Given the description of an element on the screen output the (x, y) to click on. 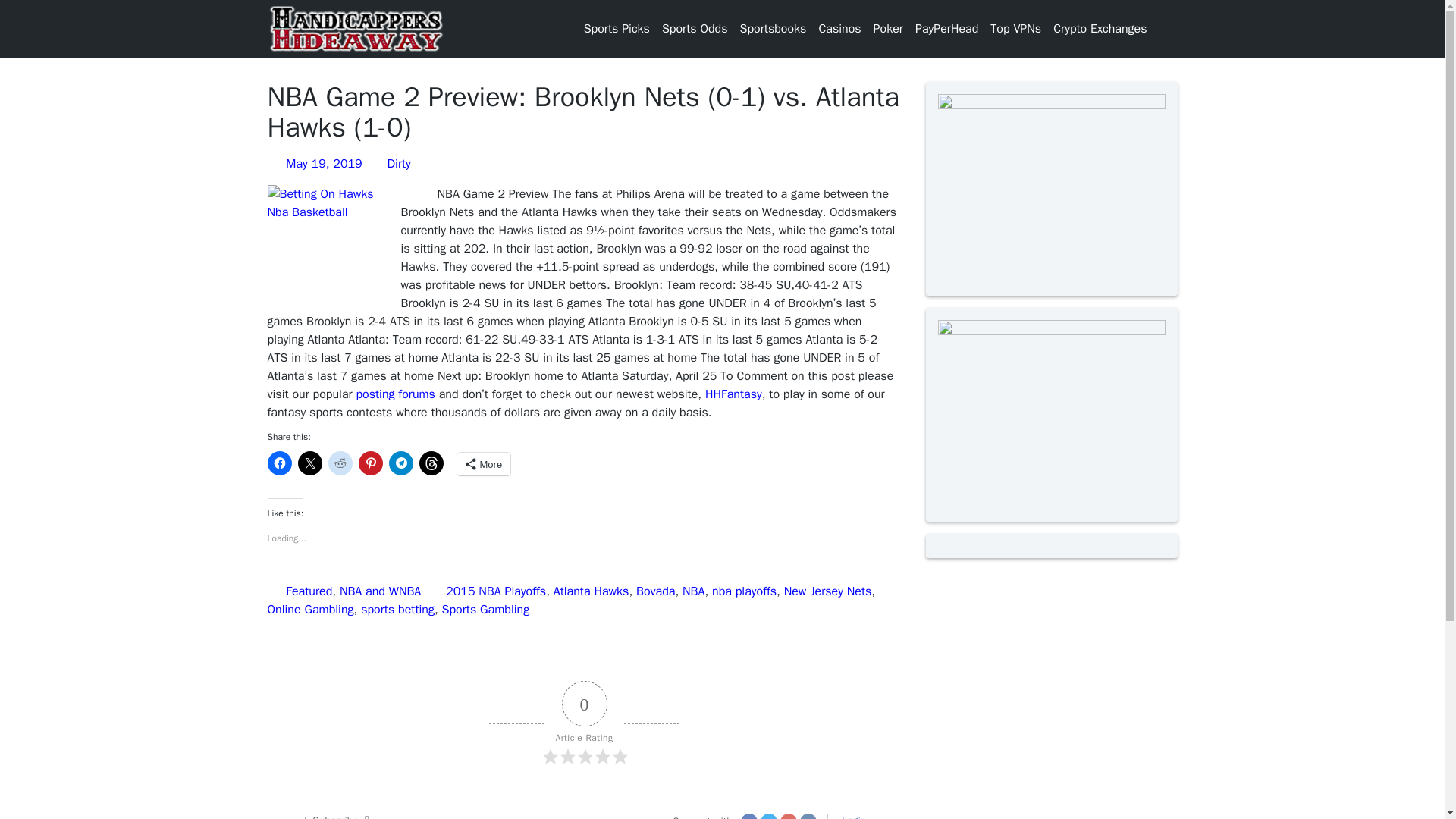
Everygame Sportsbook Review (902, 82)
Click to share on Facebook (278, 463)
PlayBlackJack (852, 119)
Login (596, 155)
Betplay (891, 119)
NCAA Basketball Odds (688, 173)
PayPerHead (946, 28)
Boxing Odds (678, 55)
NitroBetting (903, 155)
NFL Odds (686, 264)
